Given the description of an element on the screen output the (x, y) to click on. 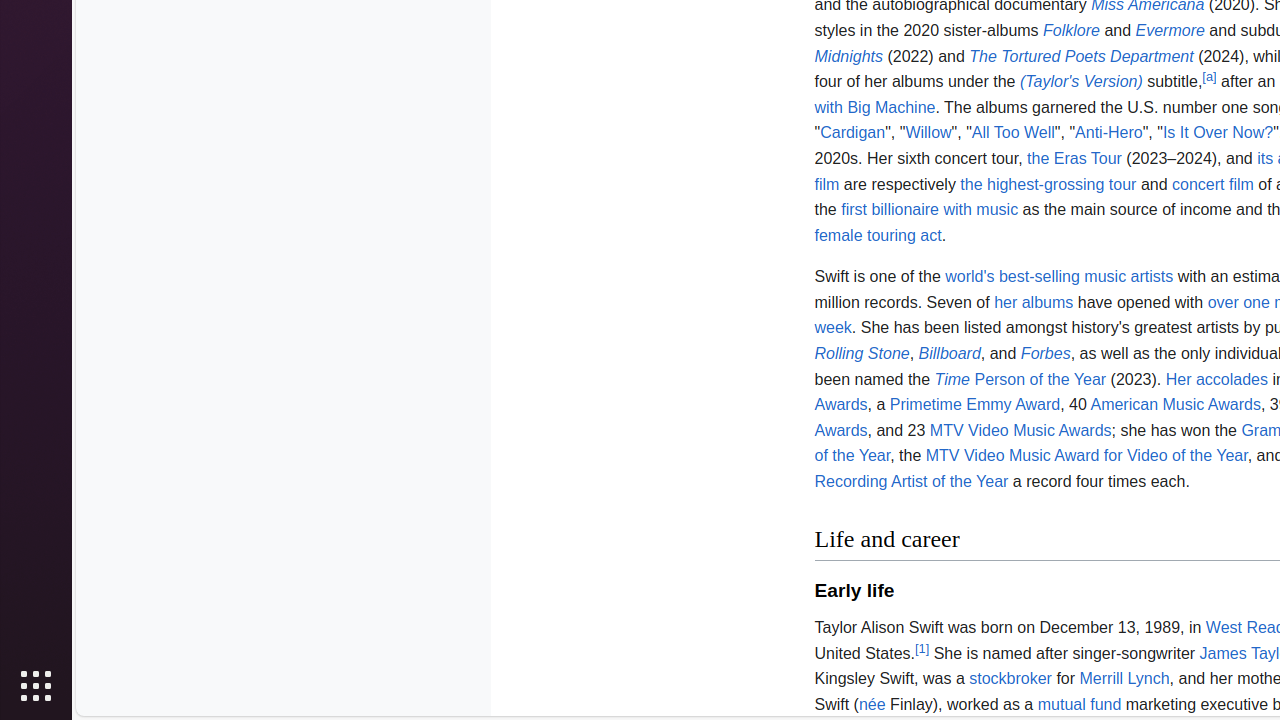
the highest-grossing tour Element type: link (1048, 184)
Willow Element type: link (928, 133)
Time Person of the Year Element type: link (1020, 378)
her albums Element type: link (1034, 302)
Forbes Element type: link (1045, 354)
